Given the description of an element on the screen output the (x, y) to click on. 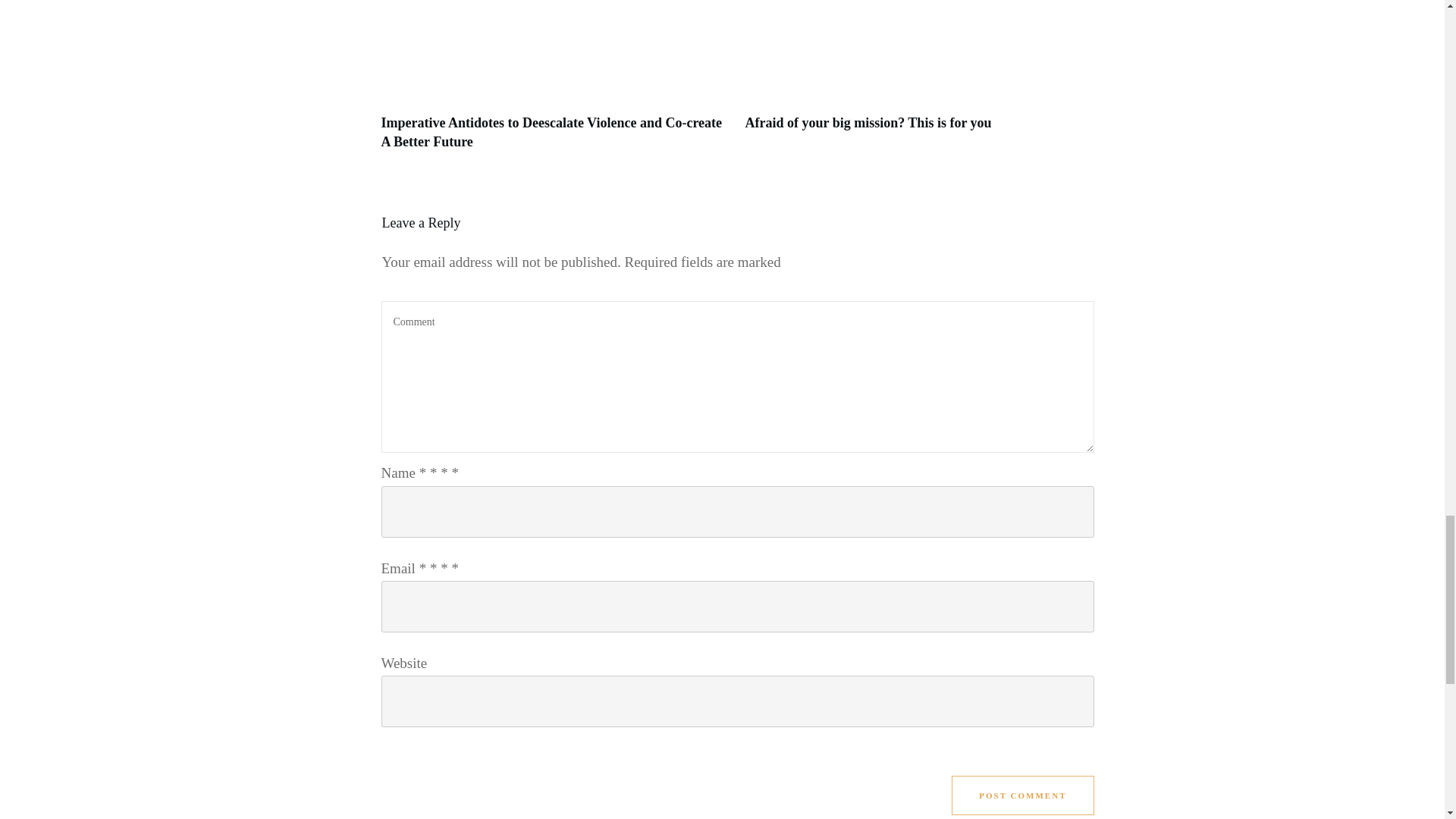
Afraid of your big mission? This is for you (867, 122)
Afraid of your big mission? This is for you (867, 122)
Afraid of your big mission? This is for you (918, 83)
POST COMMENT (1022, 794)
